Given the description of an element on the screen output the (x, y) to click on. 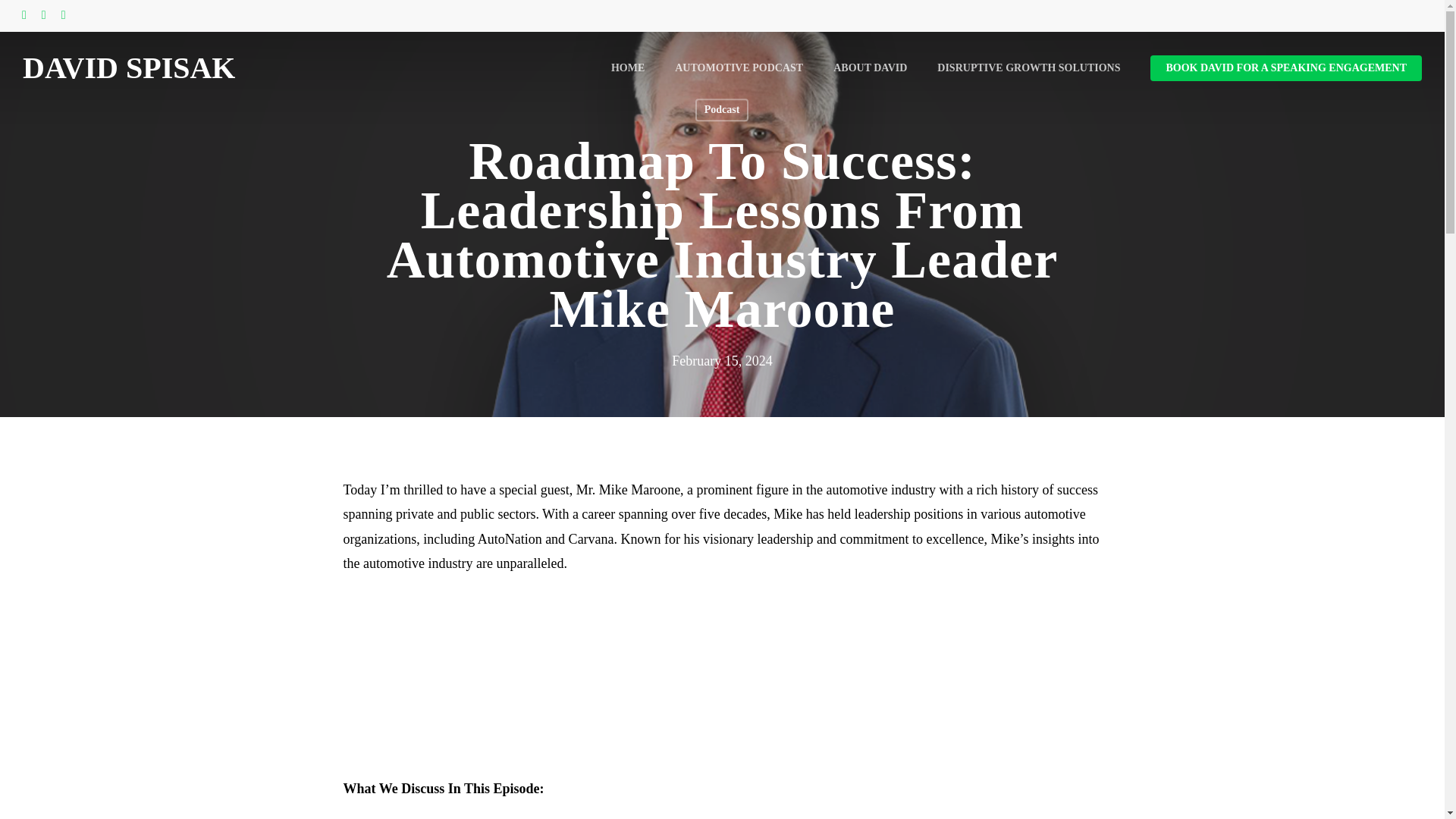
Podcast (722, 109)
DISRUPTIVE GROWTH SOLUTIONS (1028, 68)
DAVID SPISAK (128, 68)
AUTOMOTIVE PODCAST (739, 68)
BOOK DAVID FOR A SPEAKING ENGAGEMENT (1286, 68)
HOME (628, 68)
ABOUT DAVID (869, 68)
